Given the description of an element on the screen output the (x, y) to click on. 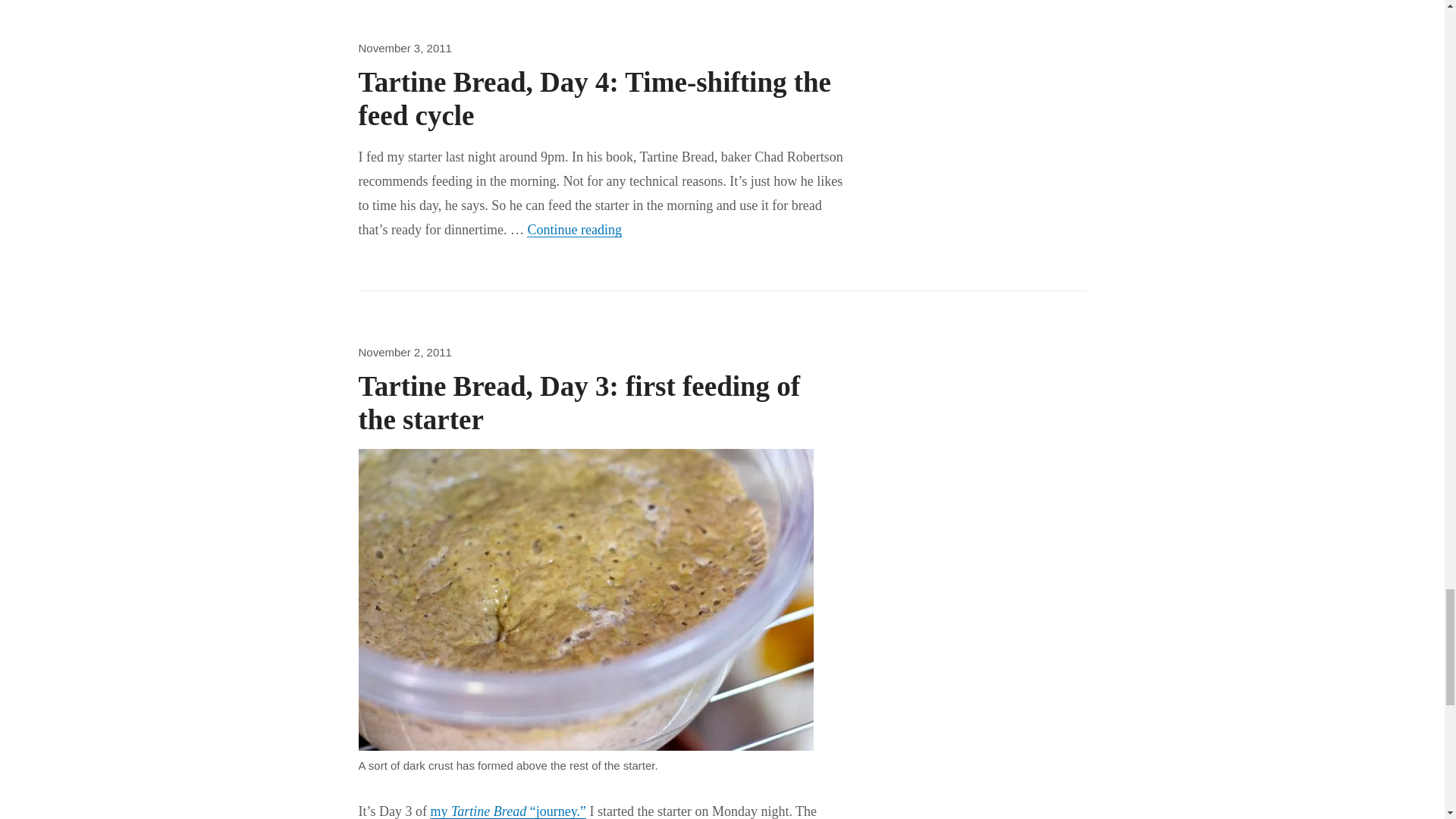
November 3, 2011 (404, 47)
Tartine Bread, Day 4: Time-shifting the feed cycle (594, 98)
My 'Tartine Bread' journey (507, 811)
